Given the description of an element on the screen output the (x, y) to click on. 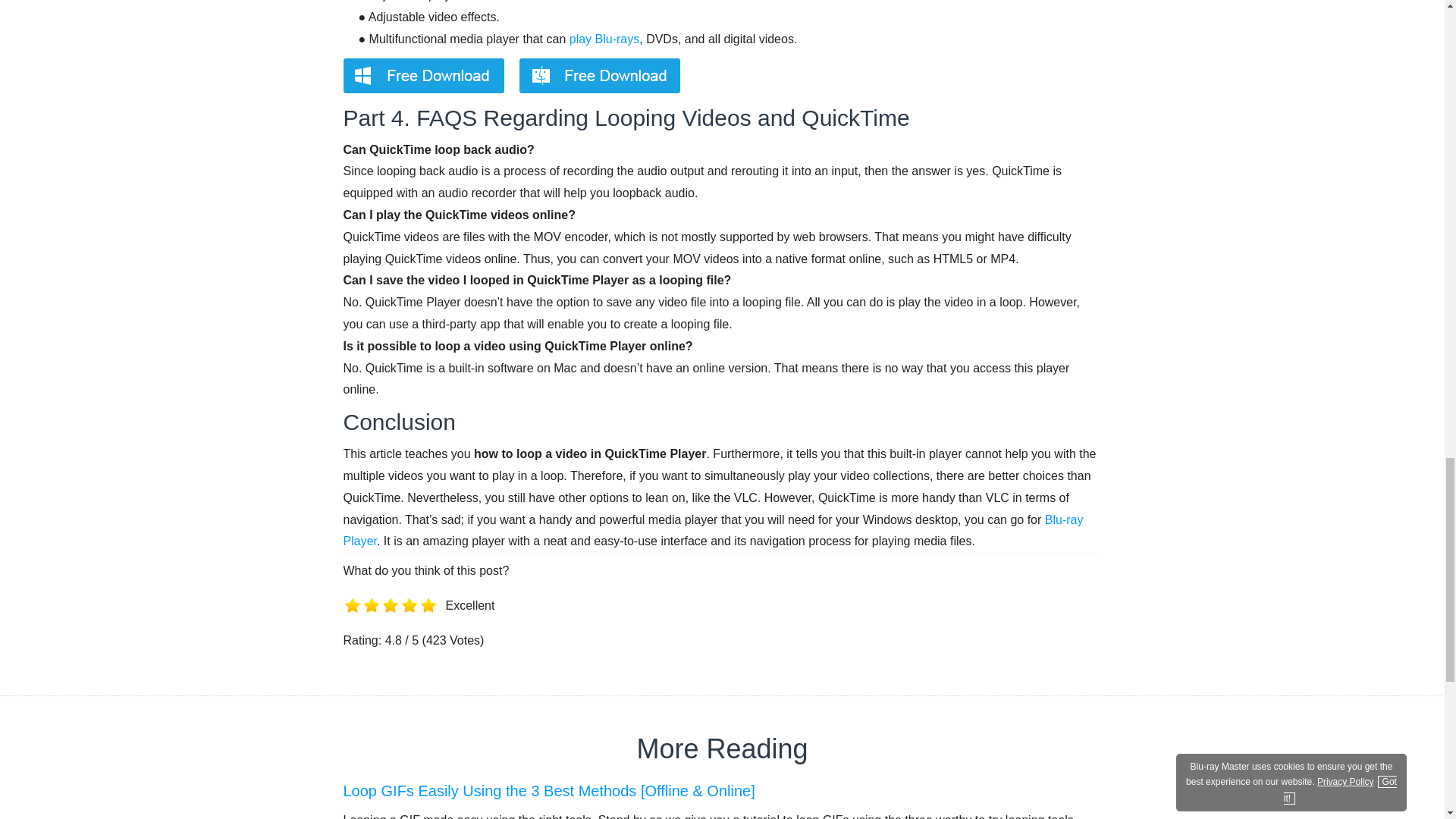
Blu-ray Player (712, 530)
3 (389, 622)
1 (351, 622)
2 (371, 622)
play Blu-rays (604, 38)
4 (409, 622)
